Given the description of an element on the screen output the (x, y) to click on. 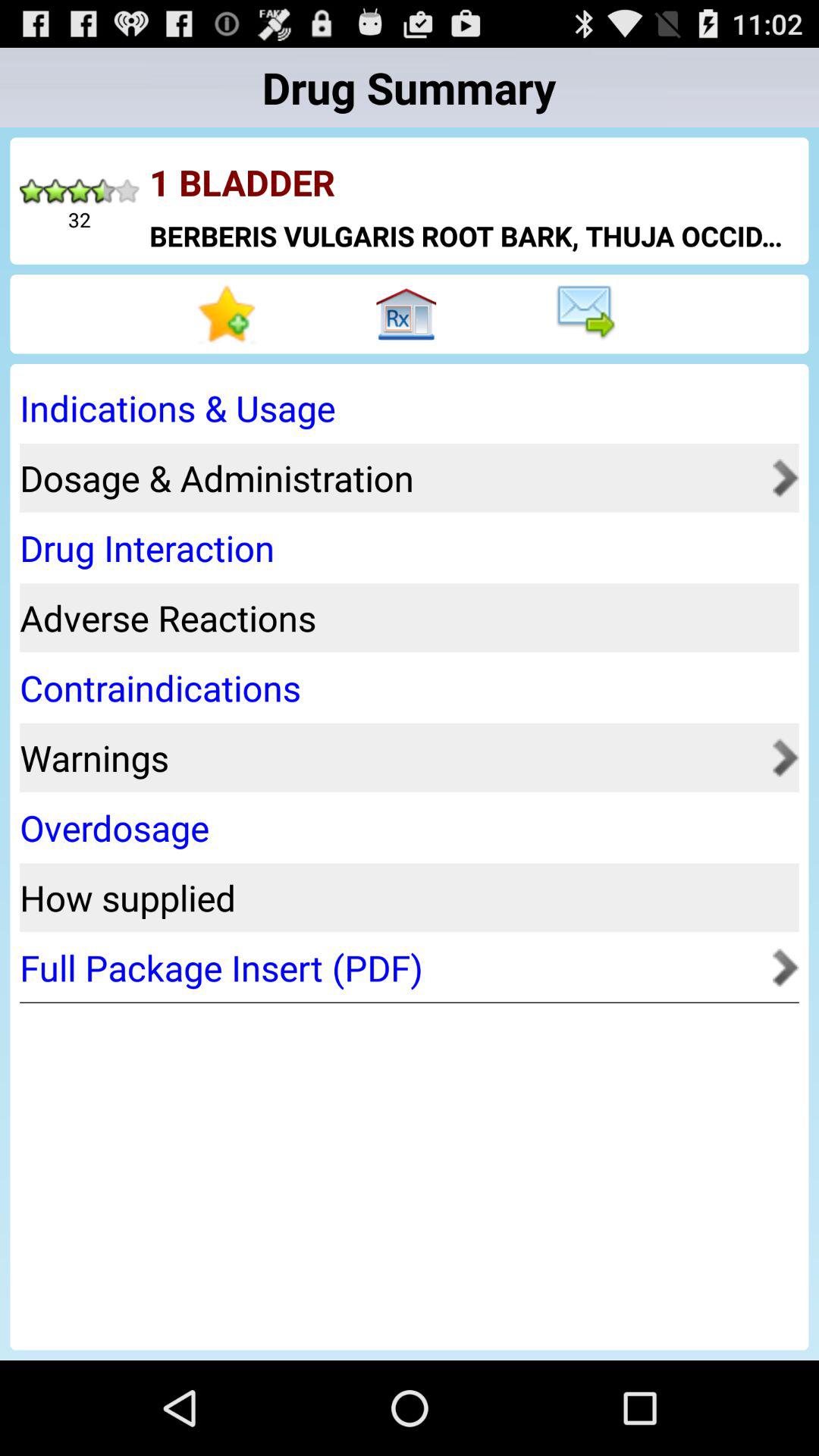
make a favorite (229, 314)
